Given the description of an element on the screen output the (x, y) to click on. 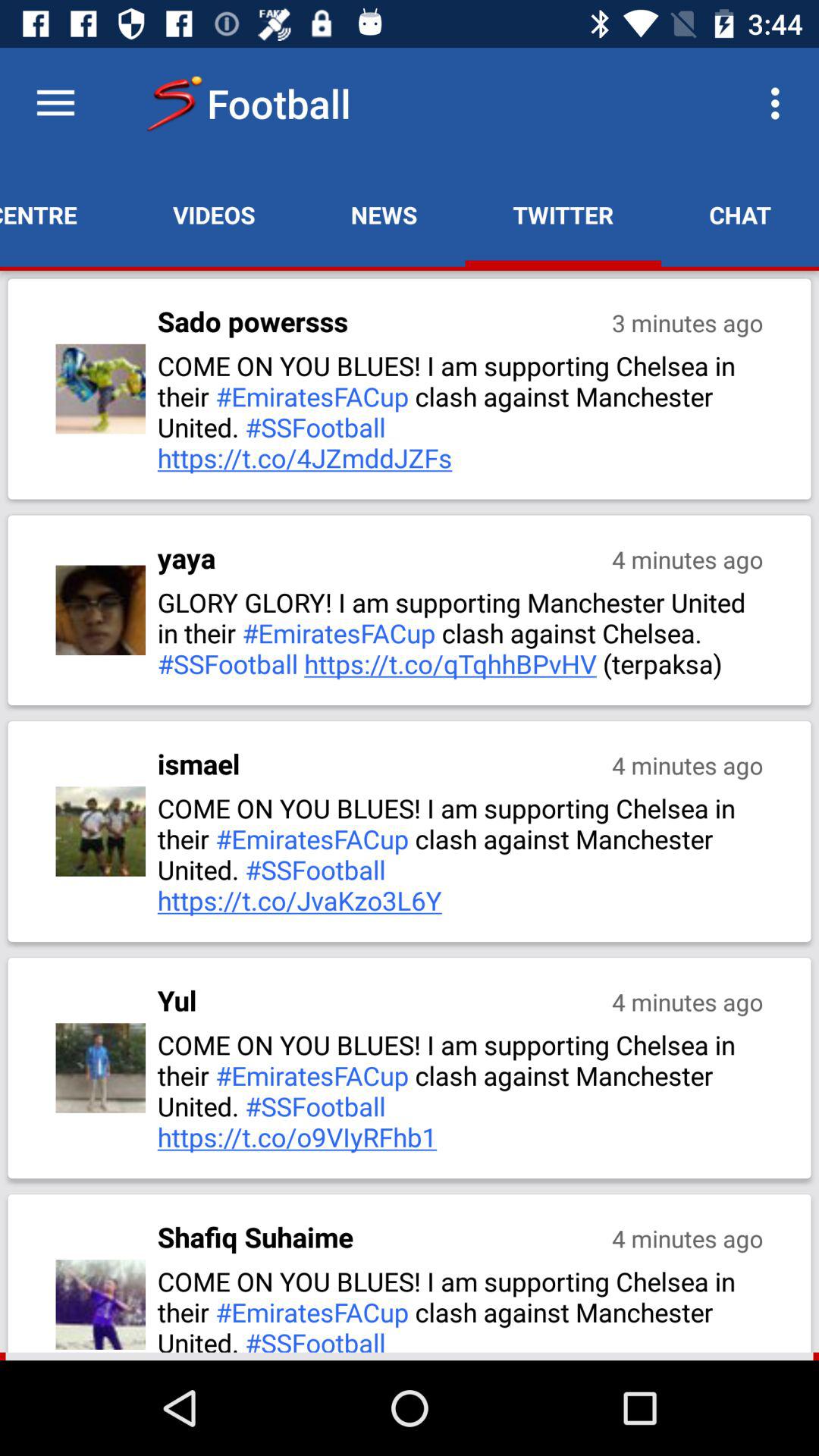
tap app to the right of news (563, 214)
